Given the description of an element on the screen output the (x, y) to click on. 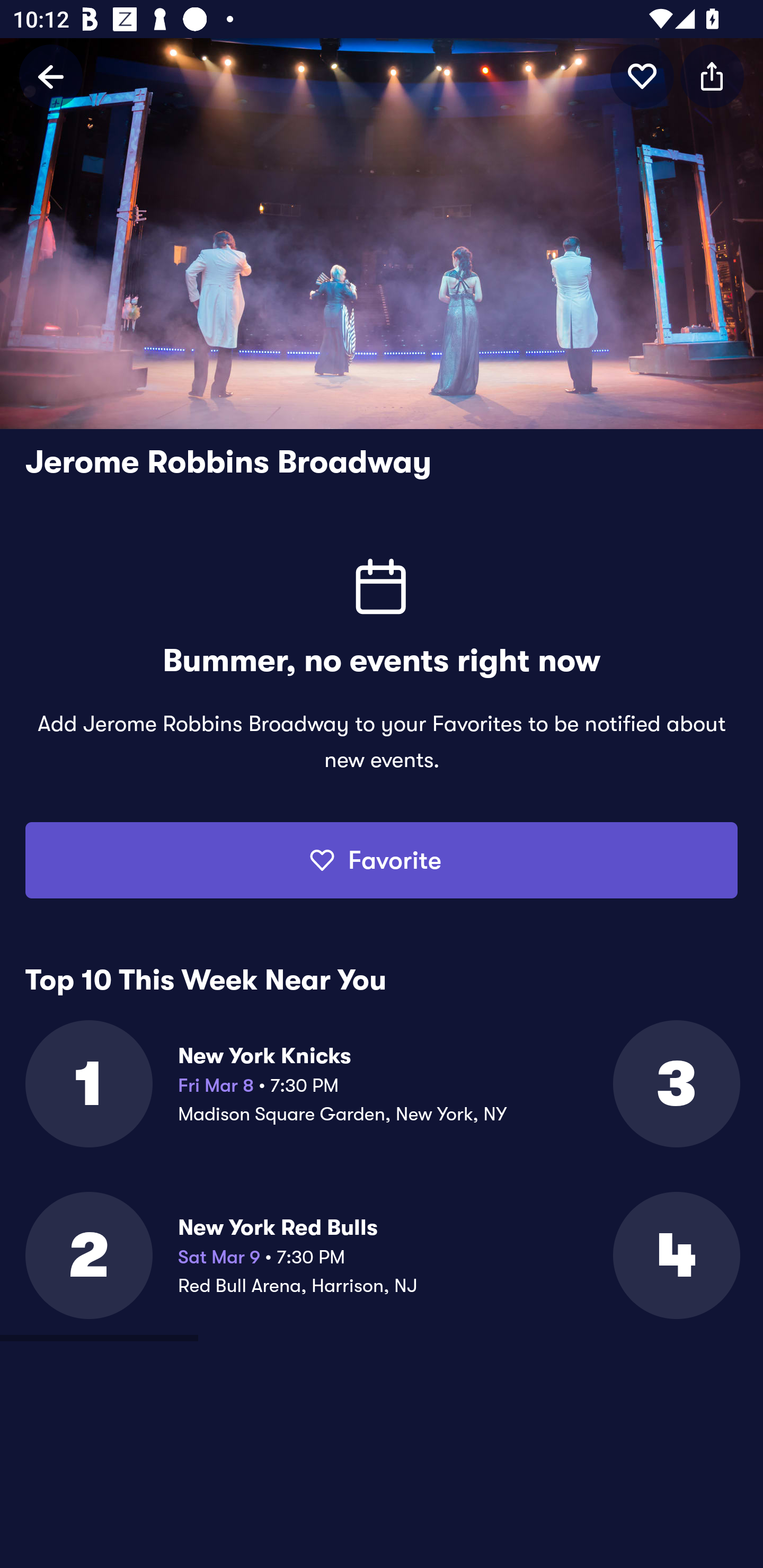
Back (50, 75)
icon button (641, 75)
icon button (711, 75)
Favorite (381, 859)
3 (675, 1083)
4 (675, 1254)
